Given the description of an element on the screen output the (x, y) to click on. 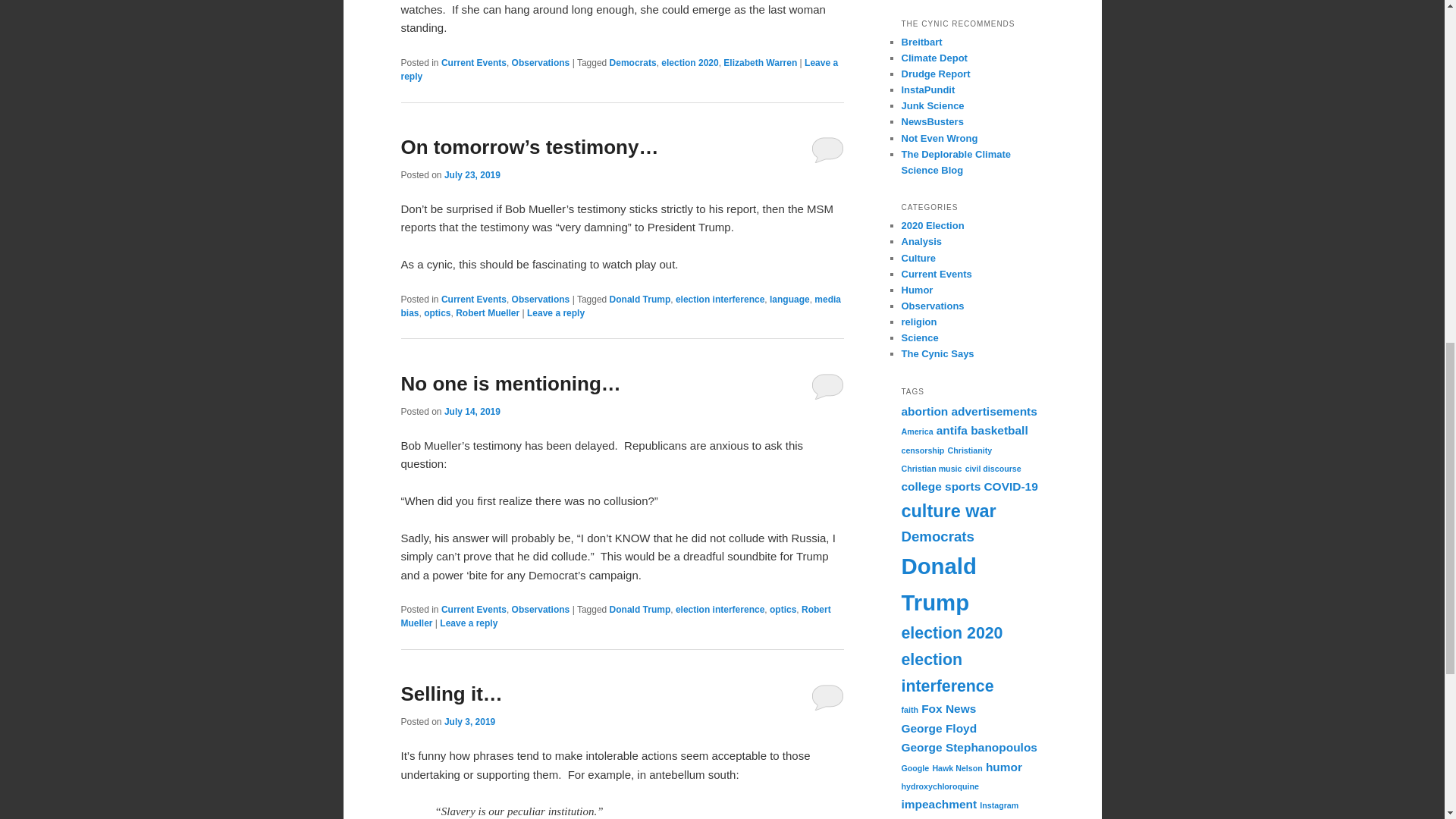
July 23, 2019 (472, 174)
Elizabeth Warren (759, 62)
media bias (620, 306)
Robert Mueller (487, 312)
Current Events (473, 299)
Observations (541, 62)
Observations (541, 299)
Leave a reply (619, 69)
Donald Trump (640, 299)
Current Events (473, 62)
InstaPundit (928, 89)
language (789, 299)
1:25 pm (469, 721)
Democrats (633, 62)
election interference (719, 299)
